Given the description of an element on the screen output the (x, y) to click on. 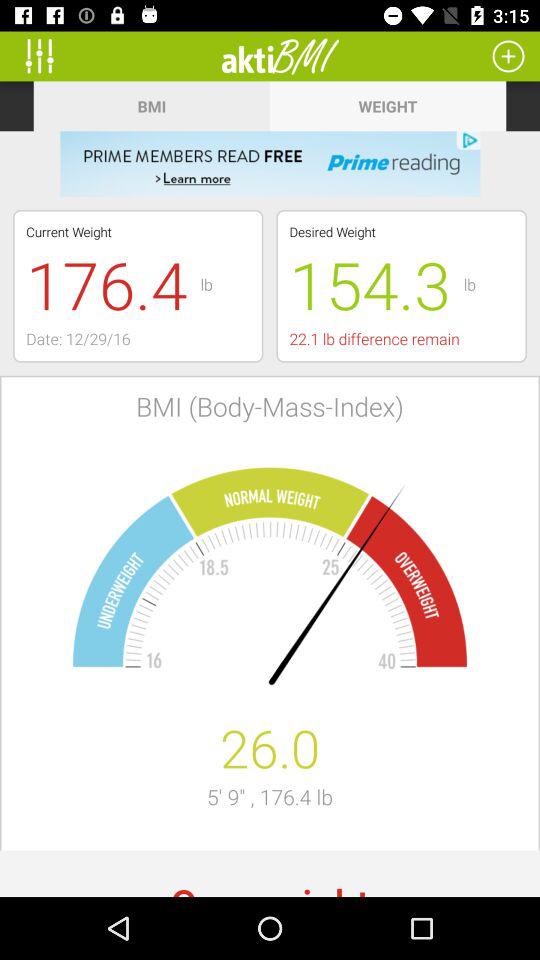
turn on icon above the bmi item (280, 56)
